Given the description of an element on the screen output the (x, y) to click on. 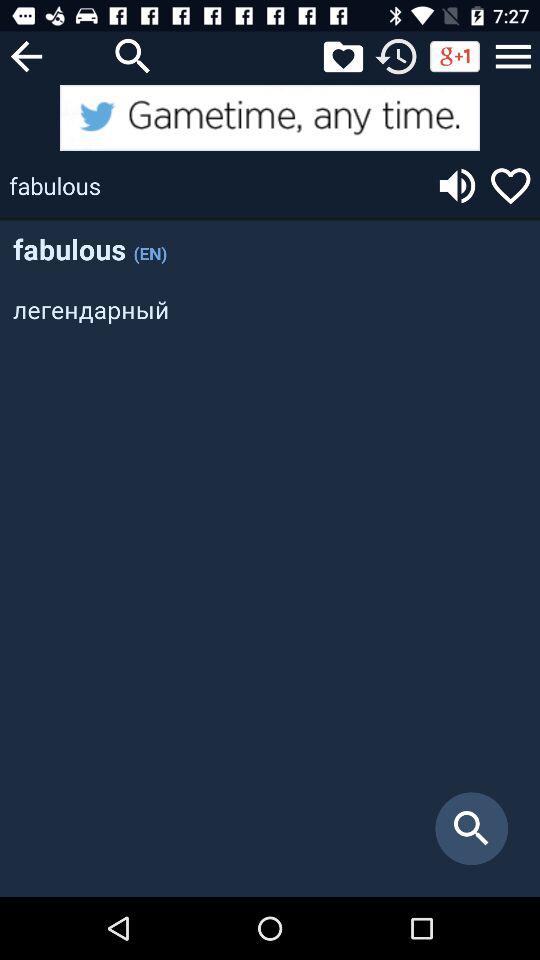
play pronounciation (457, 185)
